Given the description of an element on the screen output the (x, y) to click on. 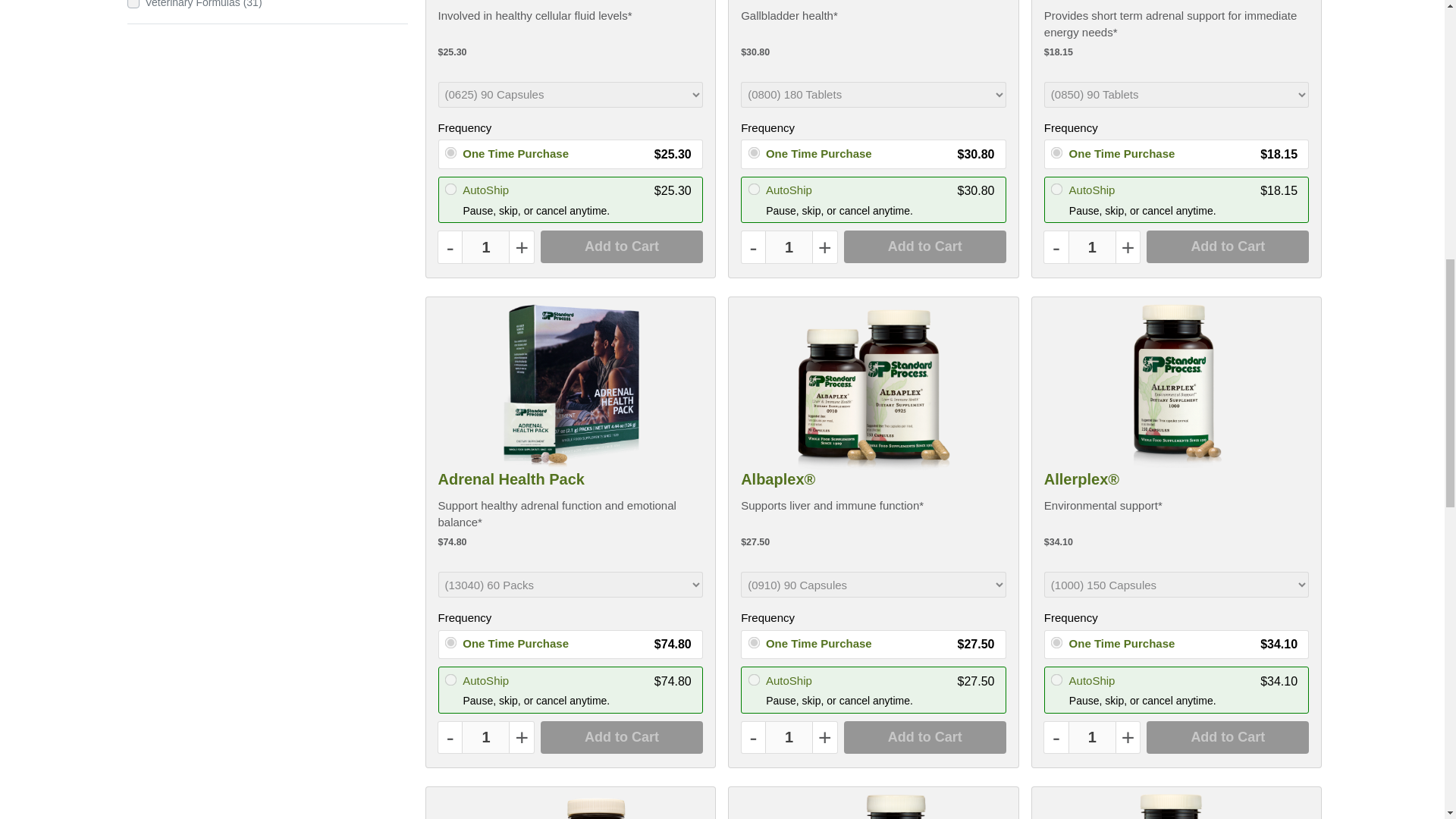
1 (1092, 246)
radio-frequency (449, 678)
radio-frequency (449, 642)
radio-frequency (752, 151)
1 (485, 737)
radio-frequency (1056, 678)
Adrenal Desiccated (1114, 3)
radio-frequency (752, 678)
Product Dropdown (873, 94)
radio-frequency (449, 188)
